Given the description of an element on the screen output the (x, y) to click on. 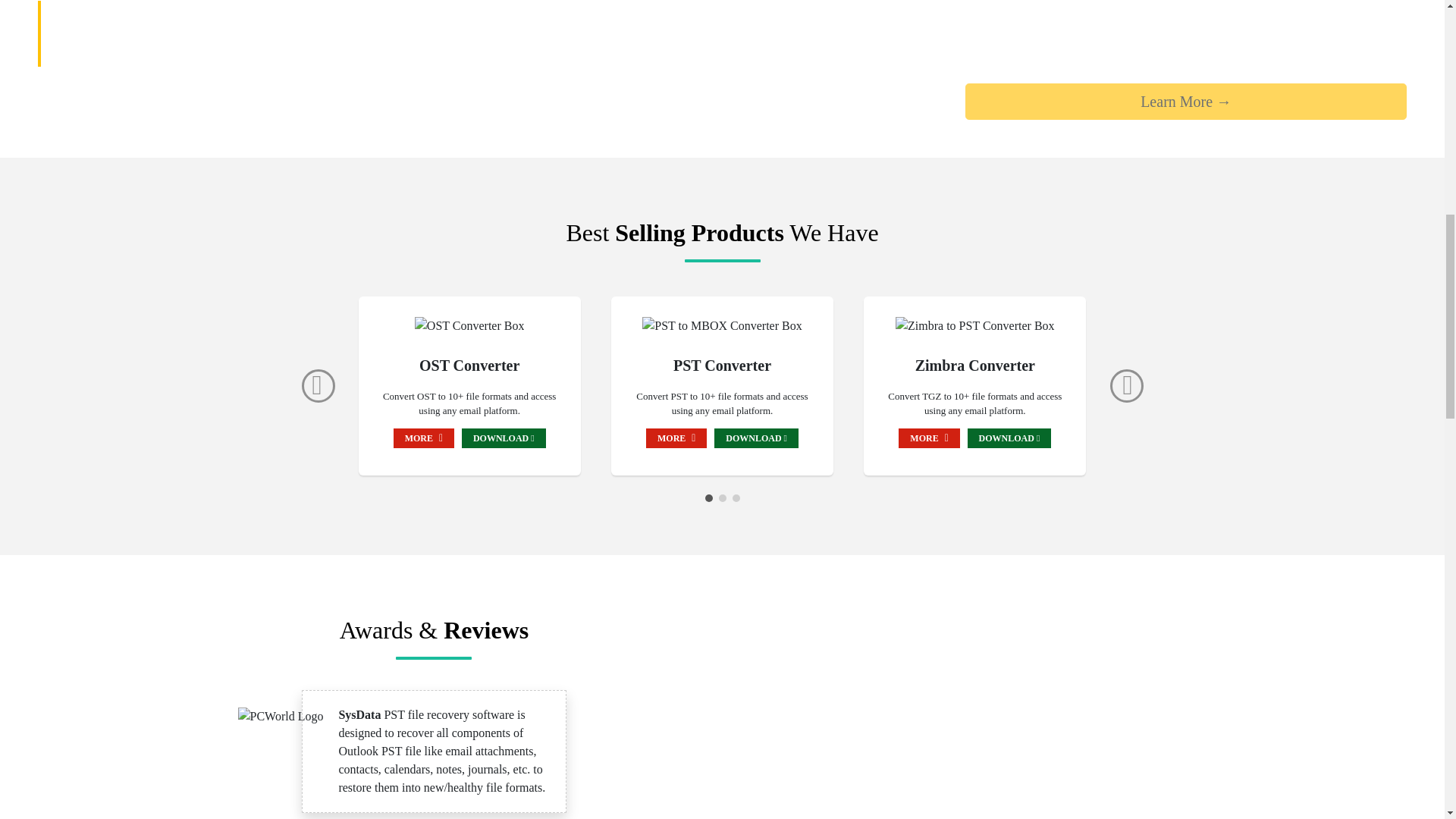
SysData PST to MBOX Converter (722, 325)
SysData Zimbra to PST Converter (974, 325)
DOWNLOAD (1009, 437)
MORE (928, 437)
SysData OST Converter (469, 325)
DOWNLOAD (503, 437)
MORE (423, 437)
DOWNLOAD (755, 437)
MORE (676, 437)
